Given the description of an element on the screen output the (x, y) to click on. 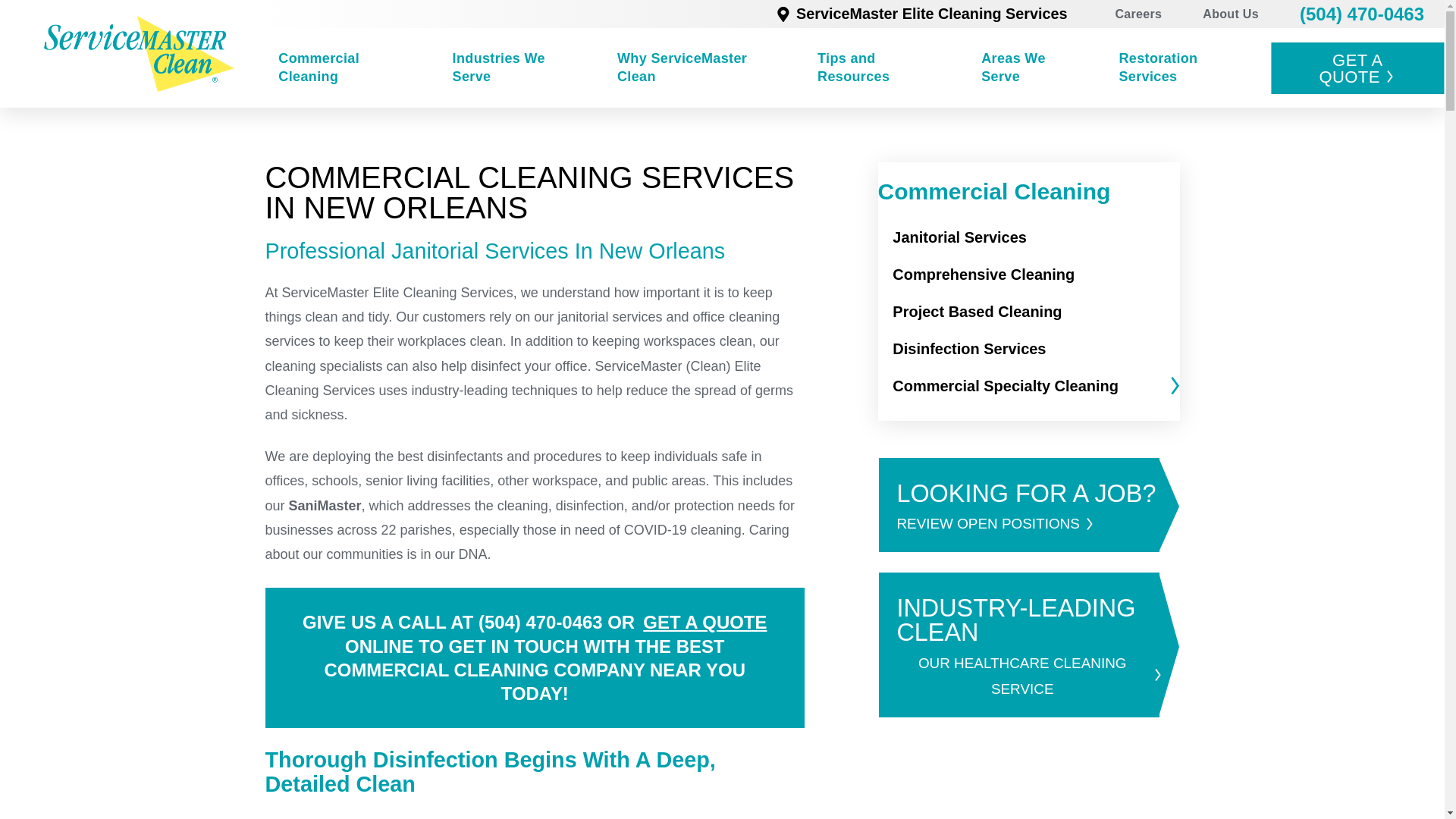
ServiceMaster Elite Cleaning Services (921, 13)
ServiceMaster Elite Cleaning Services (138, 53)
Careers (1138, 13)
Why ServiceMaster Clean (698, 67)
Industries We Serve (515, 67)
About Us (1230, 13)
Commercial Cleaning (346, 67)
